Given the description of an element on the screen output the (x, y) to click on. 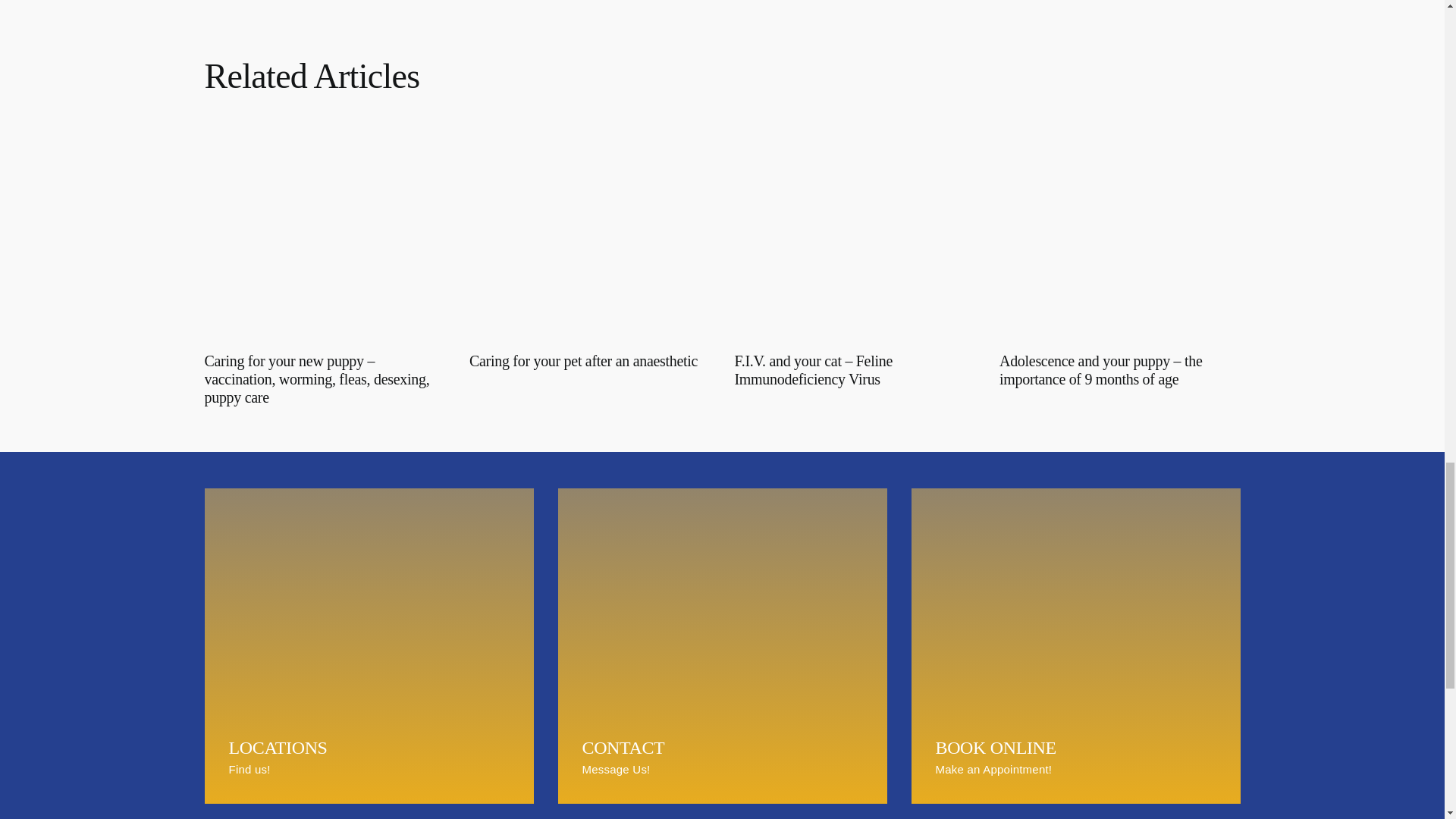
Caring for your pet after an anaesthetic (582, 360)
